Given the description of an element on the screen output the (x, y) to click on. 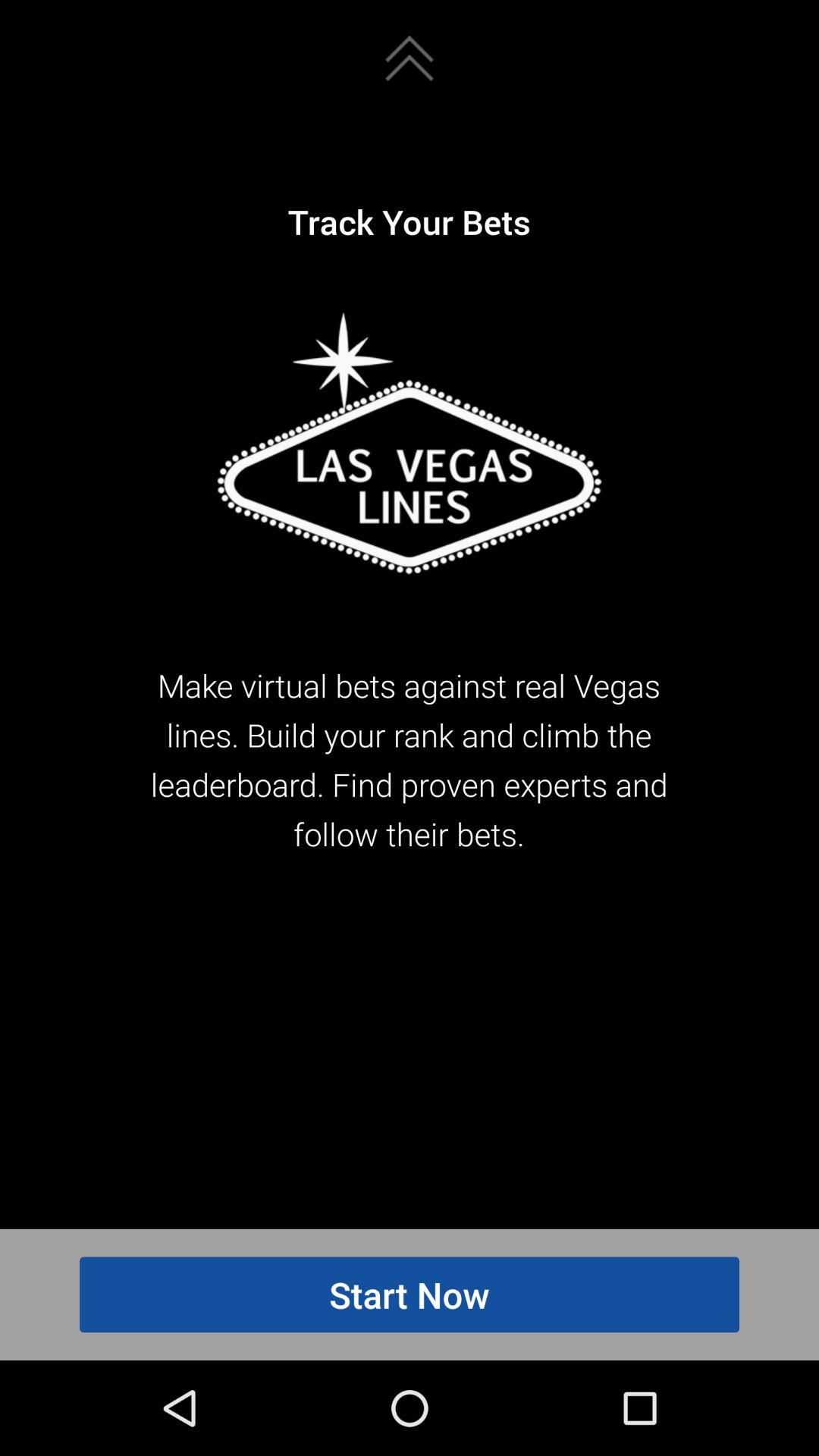
swipe until the start now item (409, 1294)
